Given the description of an element on the screen output the (x, y) to click on. 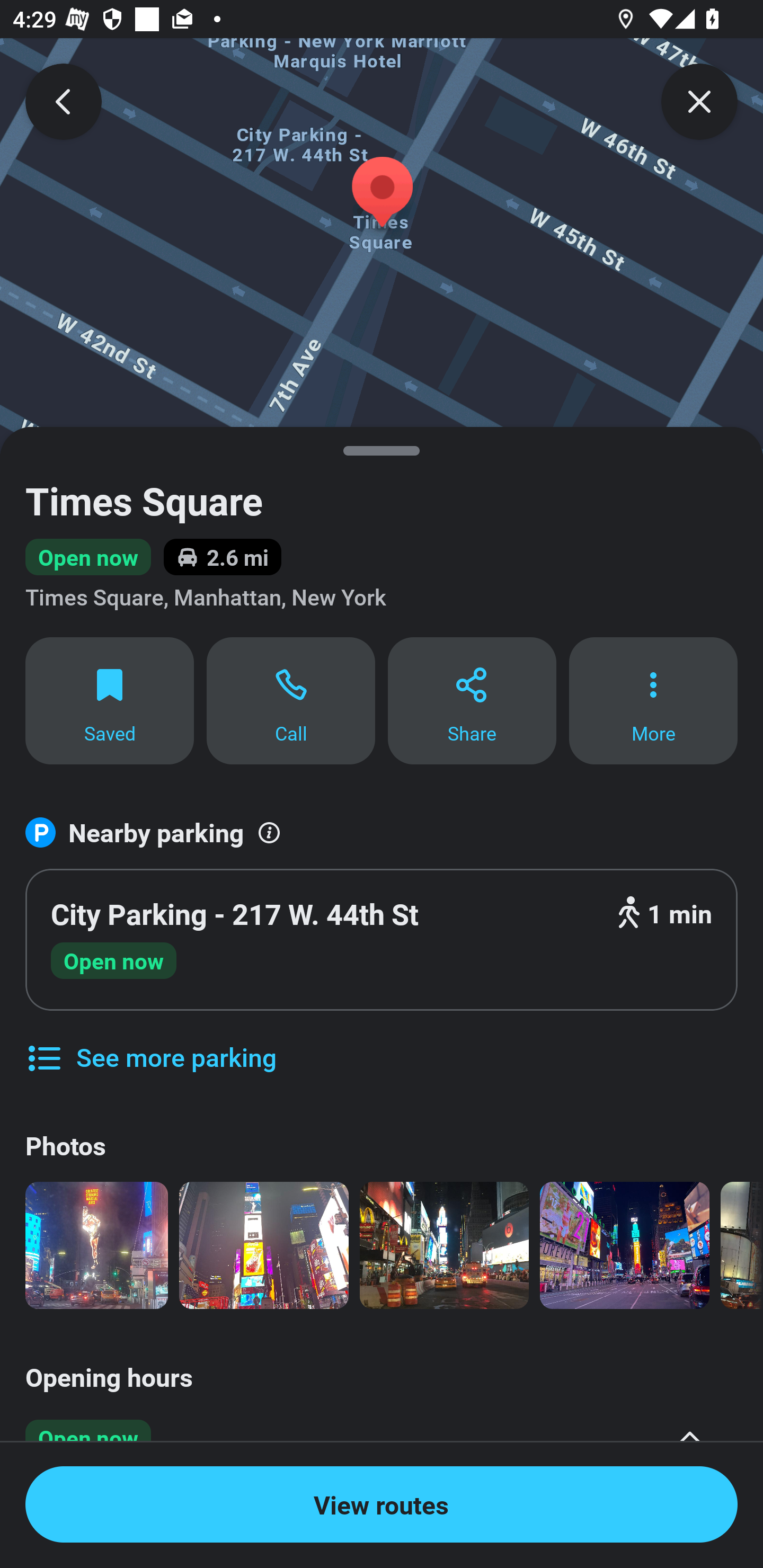
Saved (109, 700)
Call (290, 700)
Share (471, 700)
More (653, 700)
City Parking - 217 W. 44th St 1 min Open now (381, 939)
See more parking (150, 1043)
View routes (381, 1504)
